Given the description of an element on the screen output the (x, y) to click on. 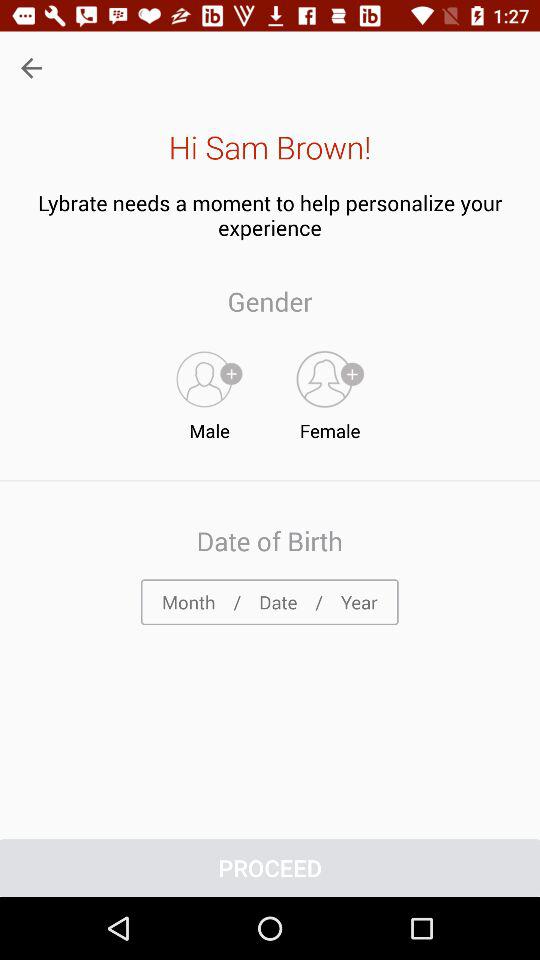
open icon next to male icon (329, 391)
